Given the description of an element on the screen output the (x, y) to click on. 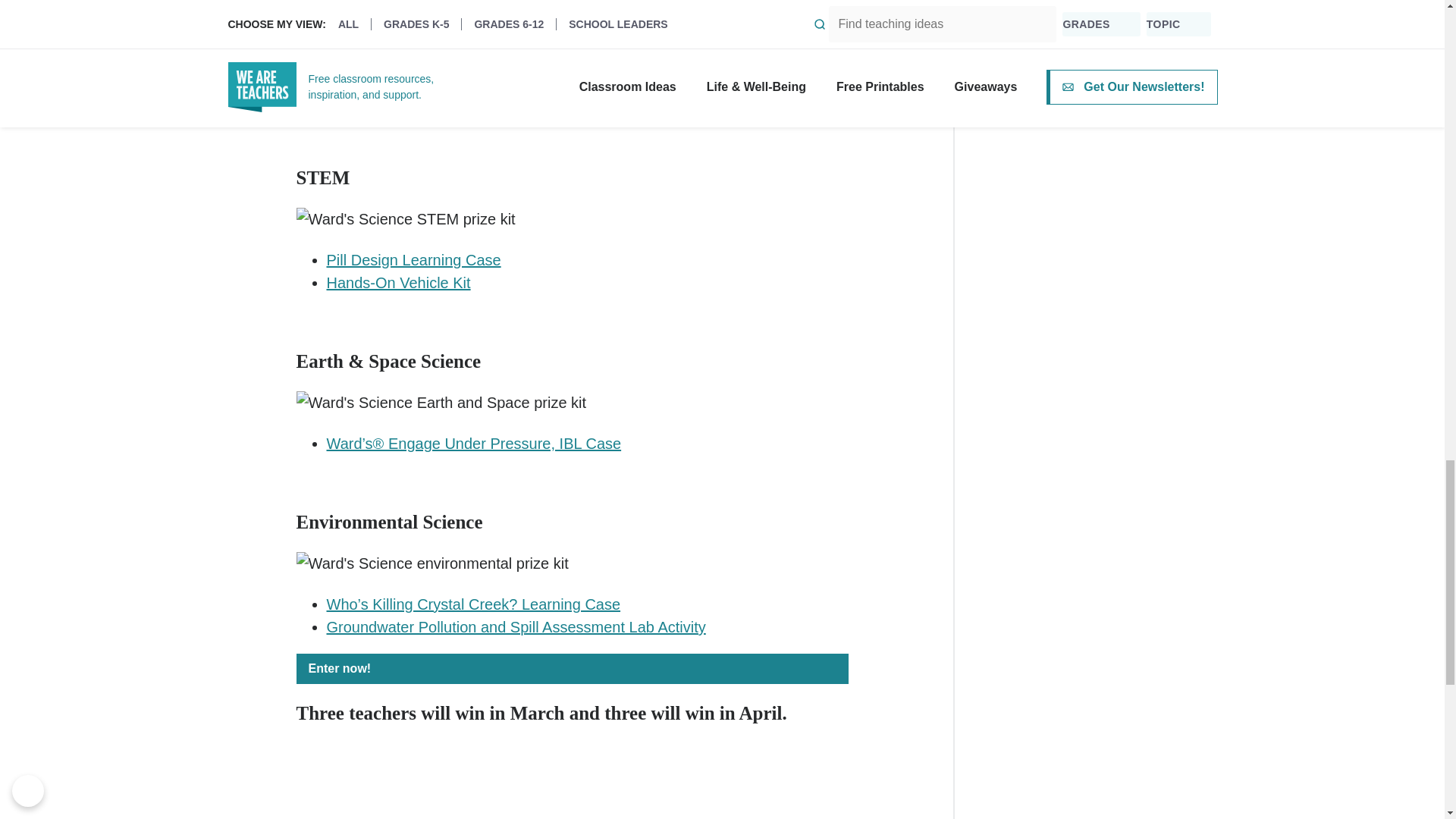
Air-Propelled Rovers (395, 76)
Groundwater Pollution and Spill Assessment Lab Activity (515, 627)
Enter now! (571, 668)
Experiencing Forces Lab Activity (435, 98)
Pill Design Learning Case (413, 259)
Hands-On Vehicle Kit (398, 282)
